Given the description of an element on the screen output the (x, y) to click on. 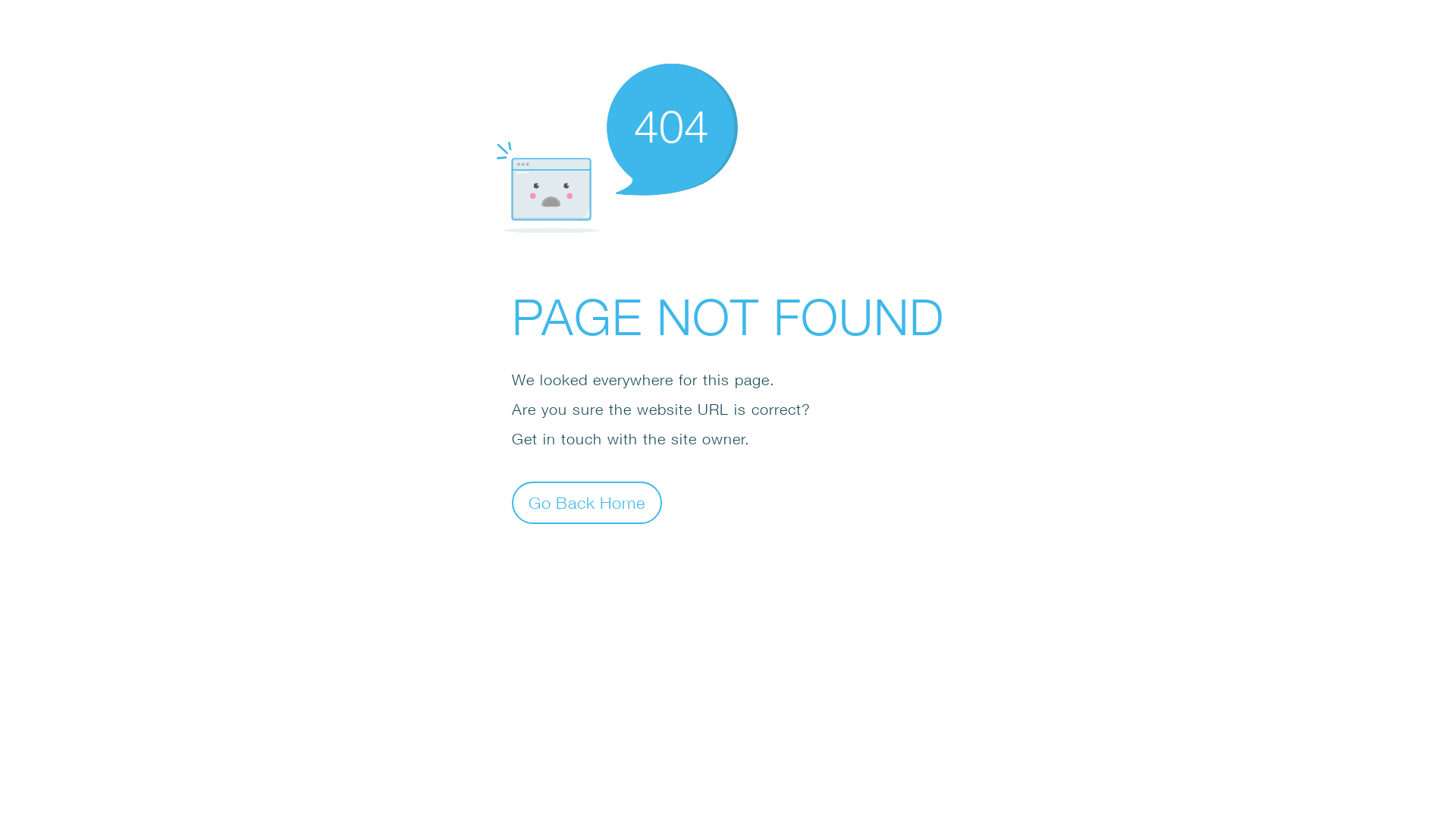
Go Back Home Element type: text (586, 502)
